Given the description of an element on the screen output the (x, y) to click on. 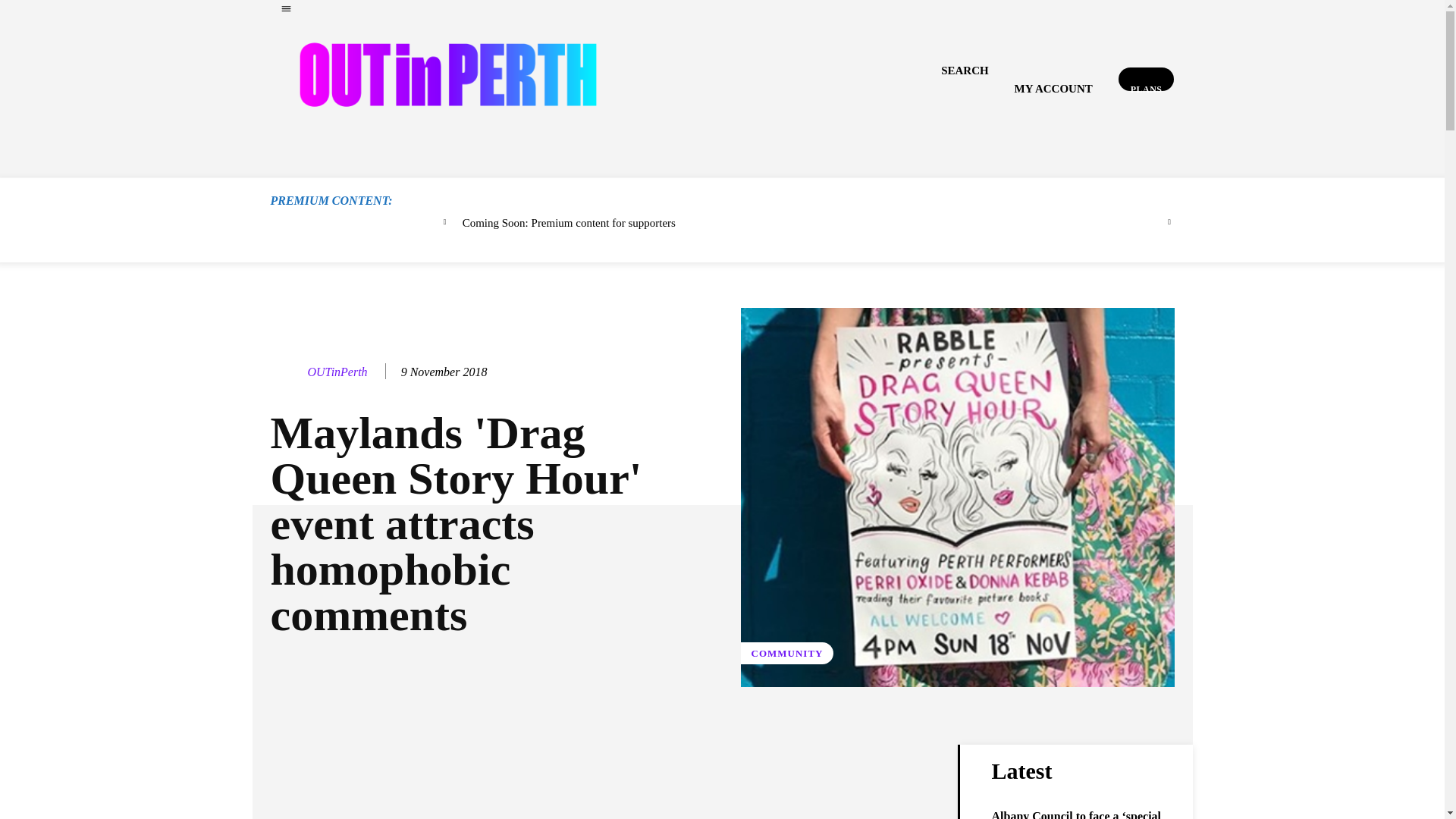
Plans (1146, 78)
OUTinPERTH (447, 74)
